Given the description of an element on the screen output the (x, y) to click on. 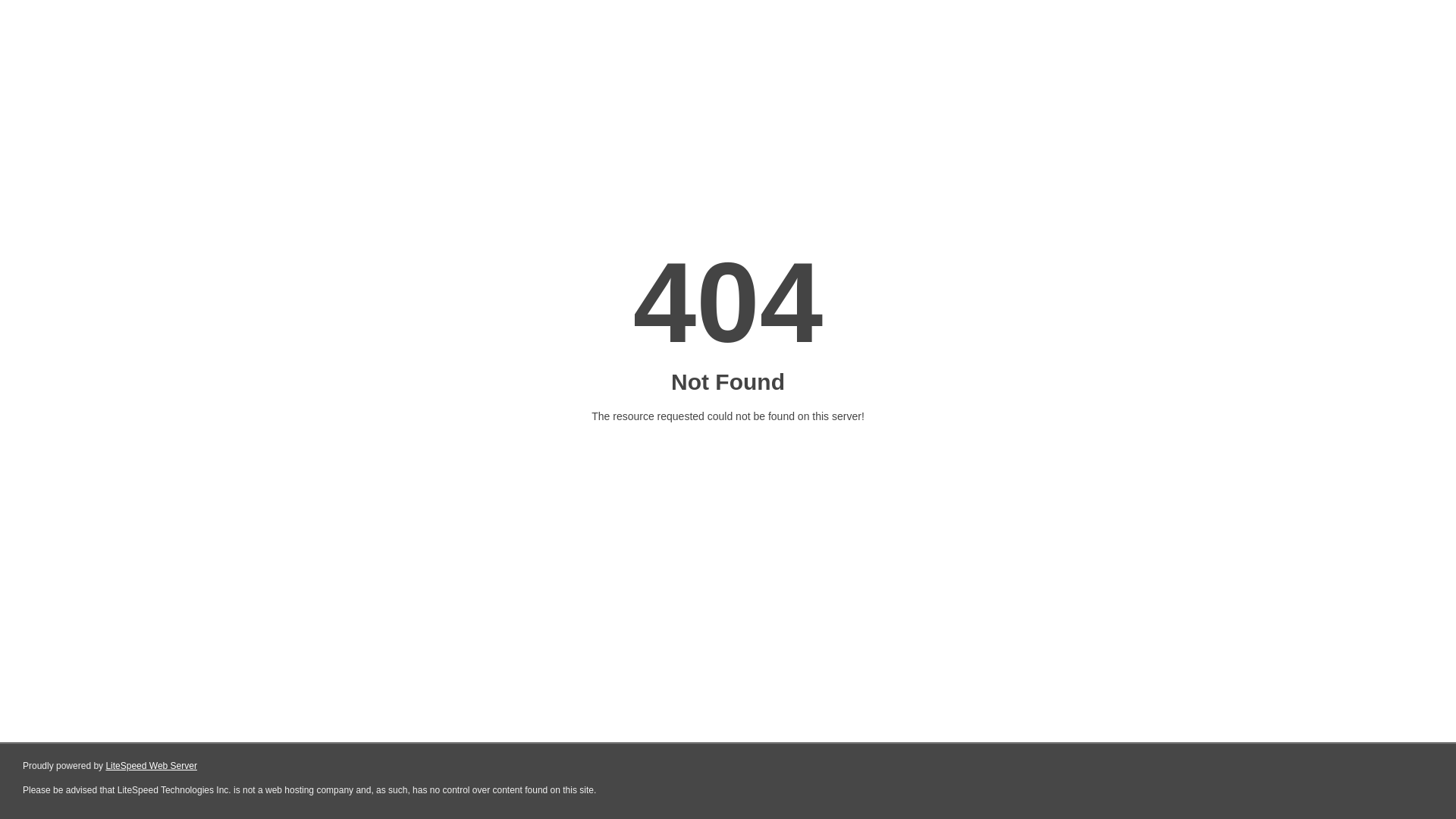
LiteSpeed Web Server Element type: text (151, 765)
